Given the description of an element on the screen output the (x, y) to click on. 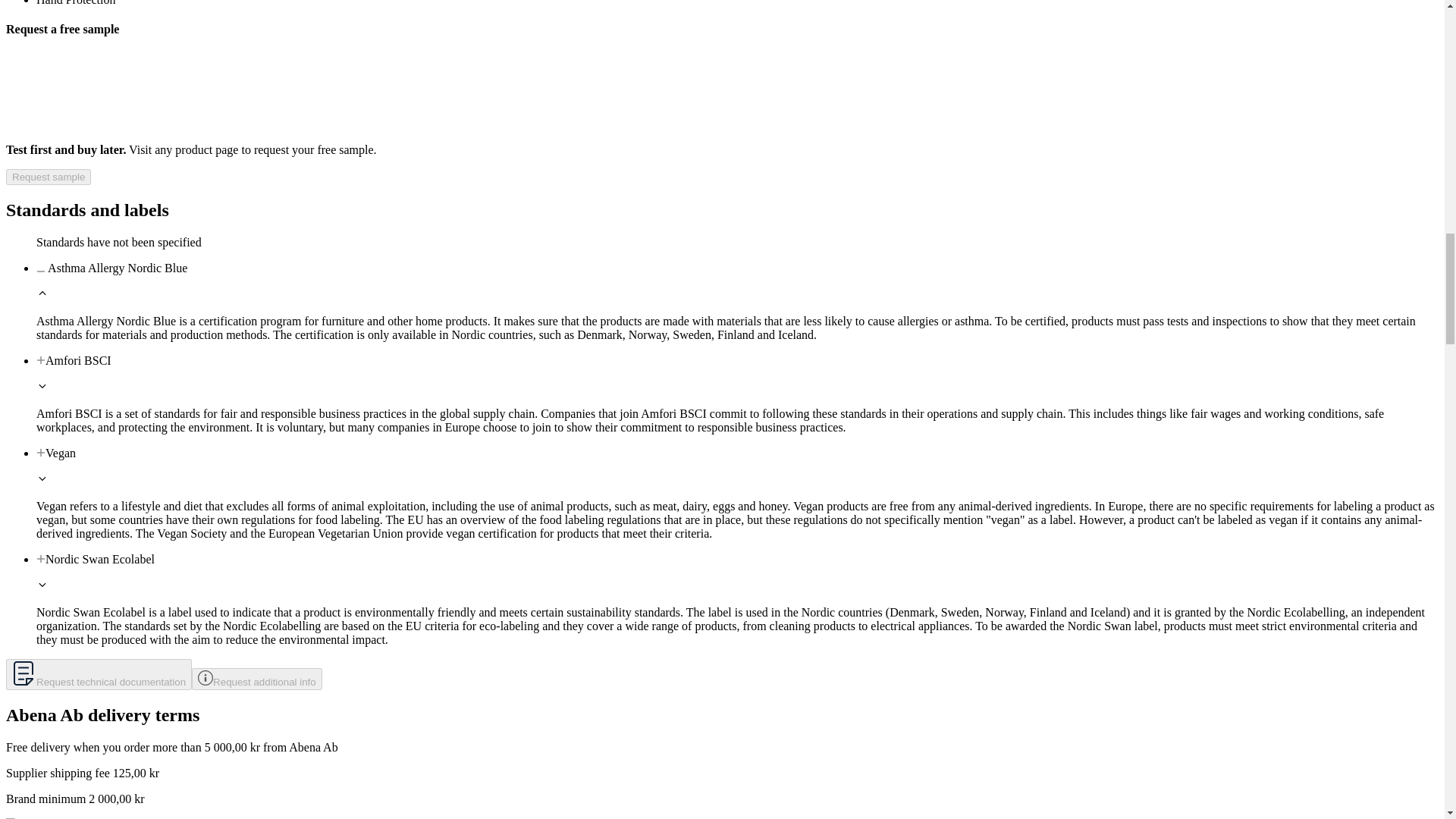
Request sample (47, 176)
Request additional info (256, 679)
Request technical documentation (98, 674)
